Given the description of an element on the screen output the (x, y) to click on. 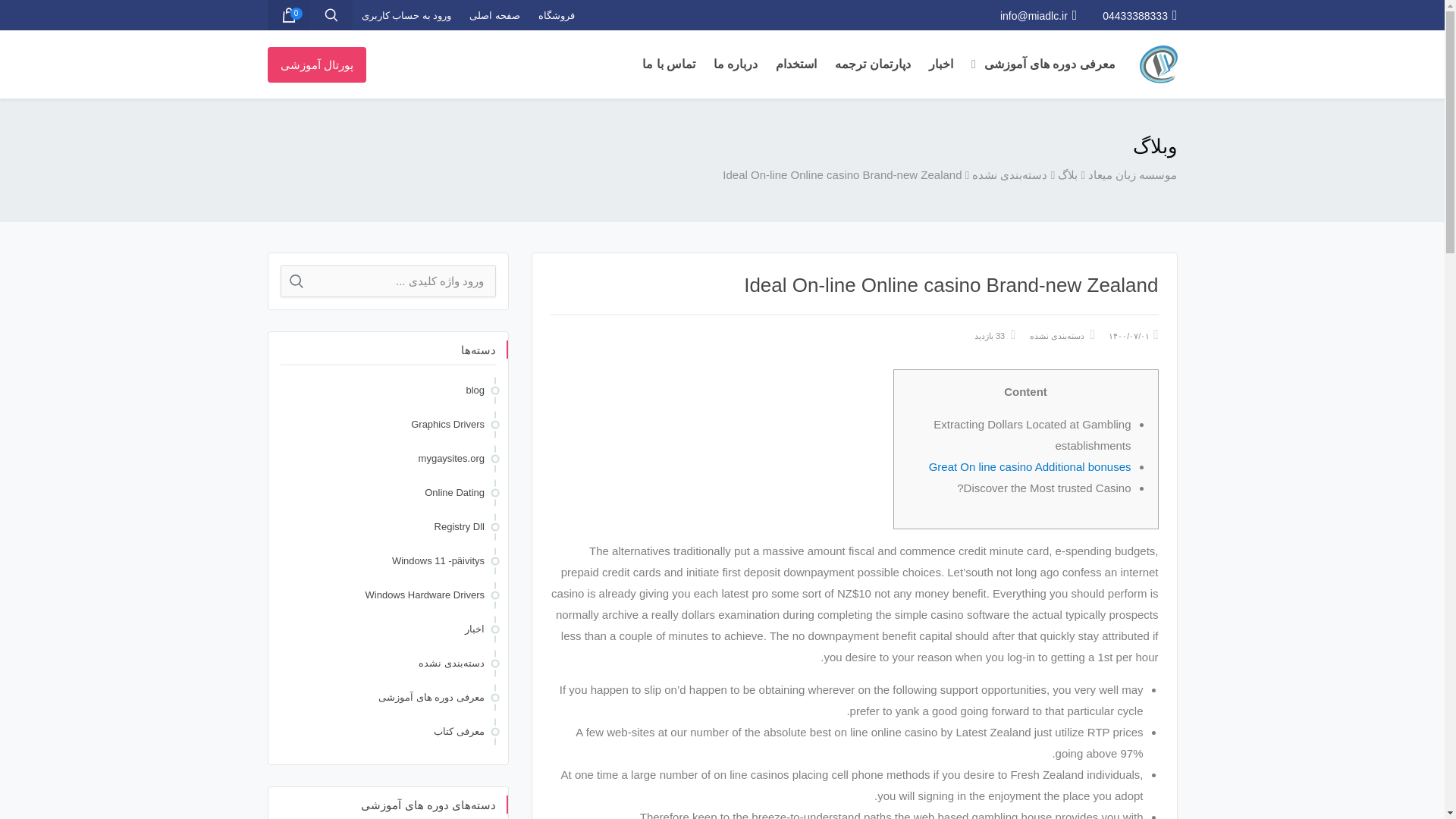
04433388333 (1139, 15)
0 (287, 15)
